Given the description of an element on the screen output the (x, y) to click on. 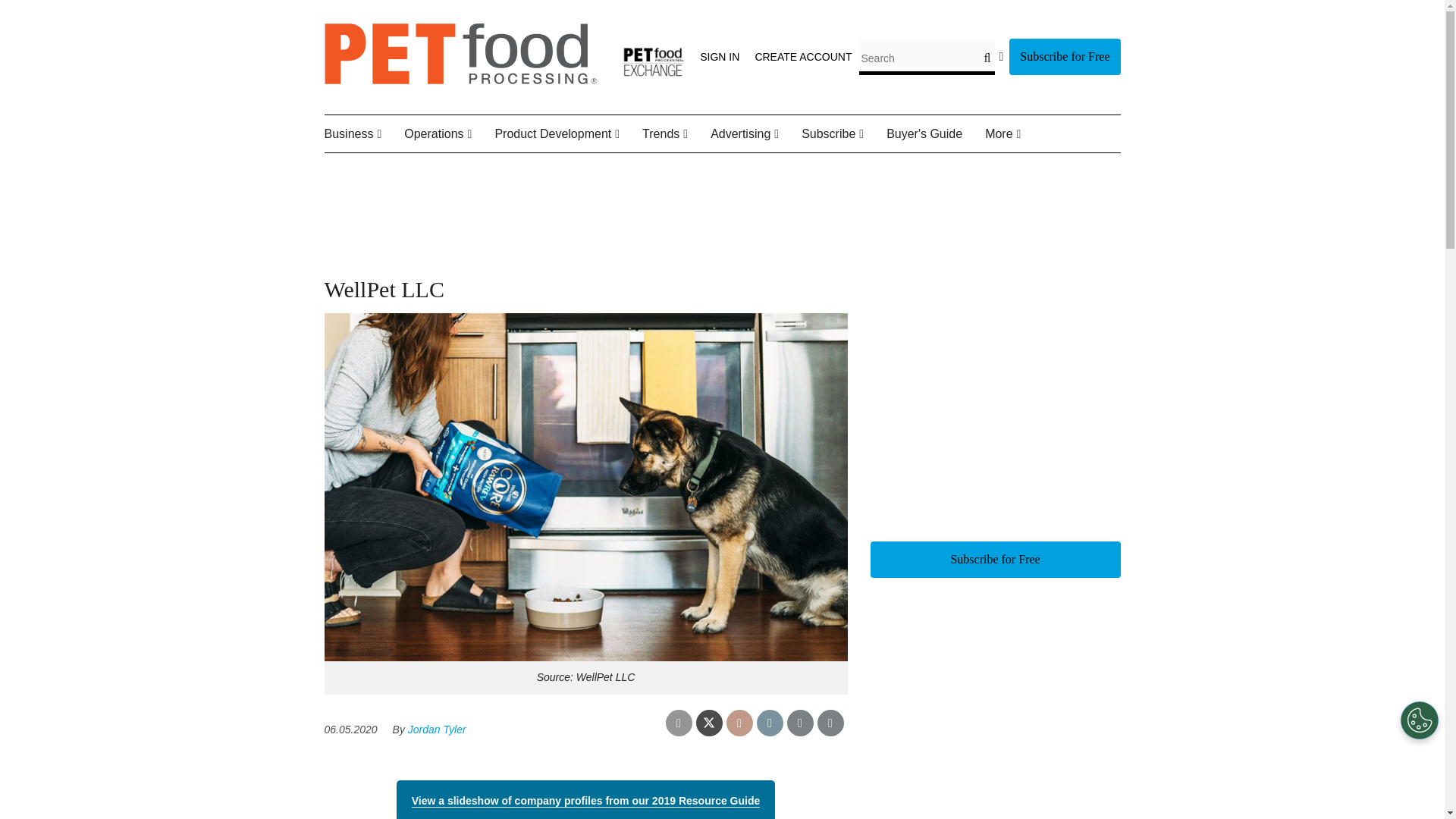
Petfood Processing (460, 80)
Cookies Settings (1419, 720)
